Given the description of an element on the screen output the (x, y) to click on. 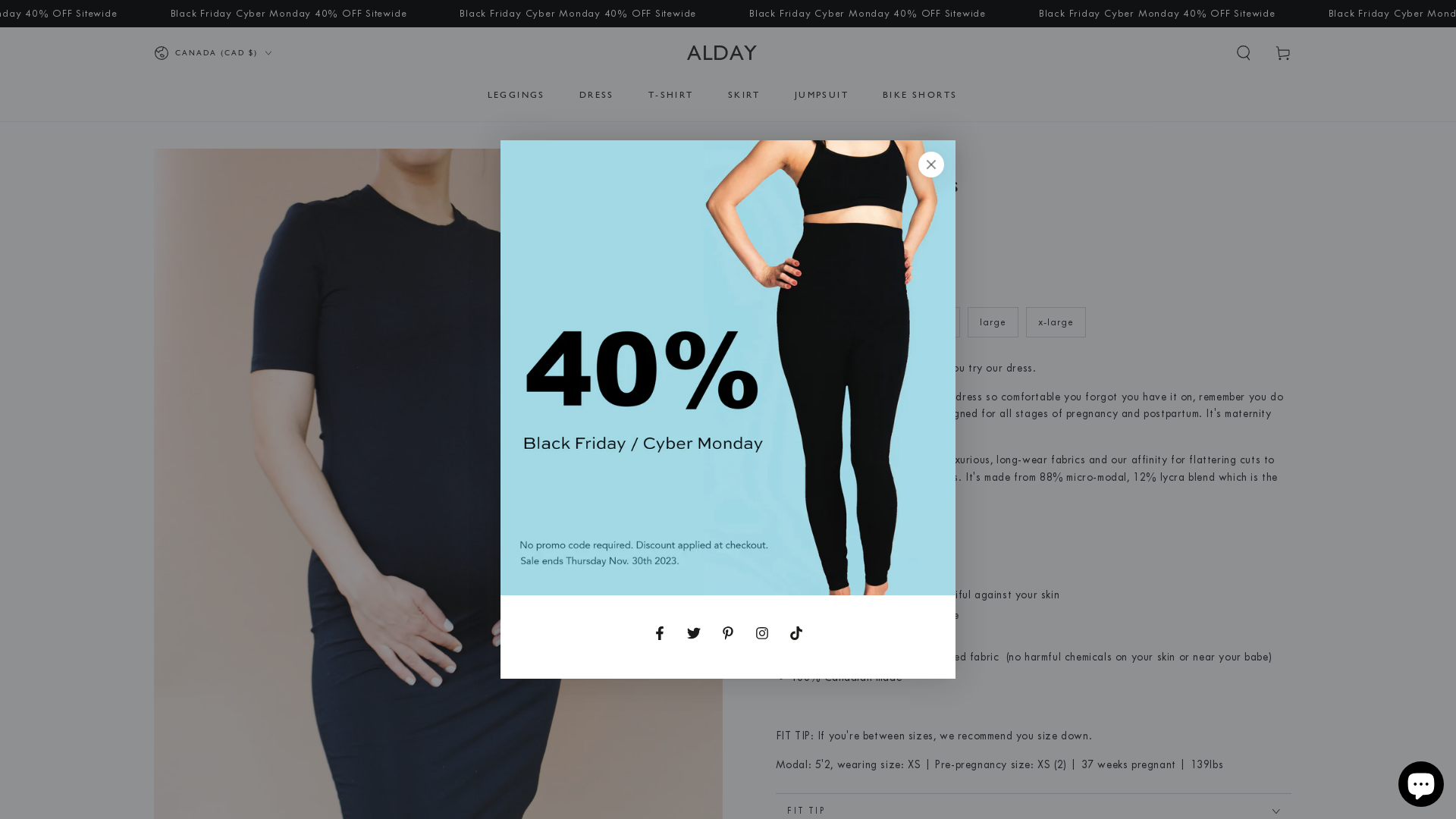
ALDAY Element type: text (722, 52)
SKIRT Element type: text (743, 94)
BIKE SHORTS Element type: text (919, 94)
Instagram Element type: text (761, 633)
Pinterest Element type: text (727, 633)
TikTok Element type: text (796, 633)
JUMPSUIT Element type: text (821, 94)
SKIP TO PRODUCT INFORMATION Element type: text (244, 166)
T-SHIRT Element type: text (671, 94)
Facebook Element type: text (659, 633)
Twitter Element type: text (693, 633)
LEGGINGS Element type: text (516, 94)
CANADA (CAD $) Element type: text (211, 52)
DRESS Element type: text (596, 94)
Shopify online store chat Element type: hover (1420, 780)
